Given the description of an element on the screen output the (x, y) to click on. 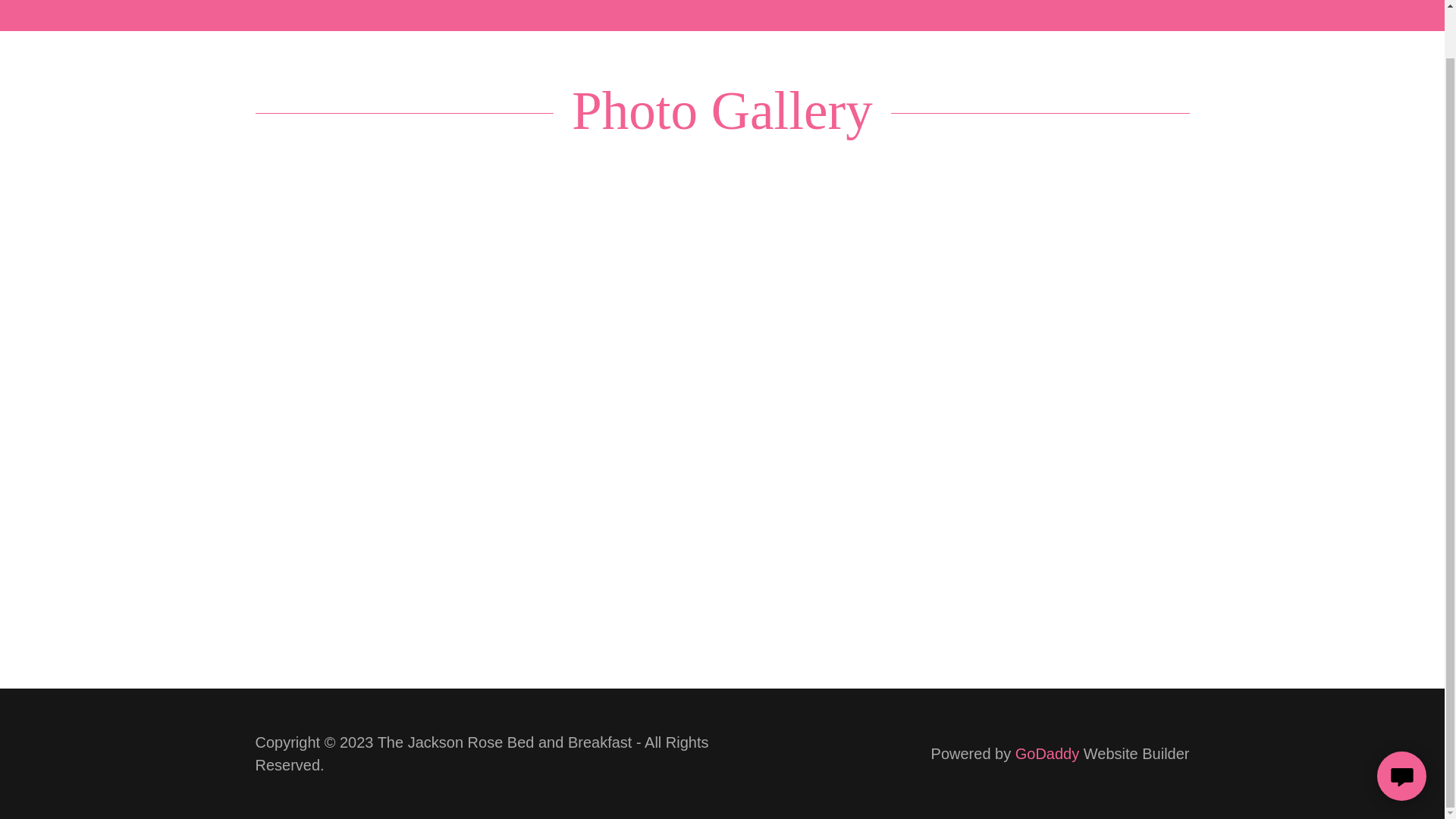
GoDaddy (1047, 753)
